Given the description of an element on the screen output the (x, y) to click on. 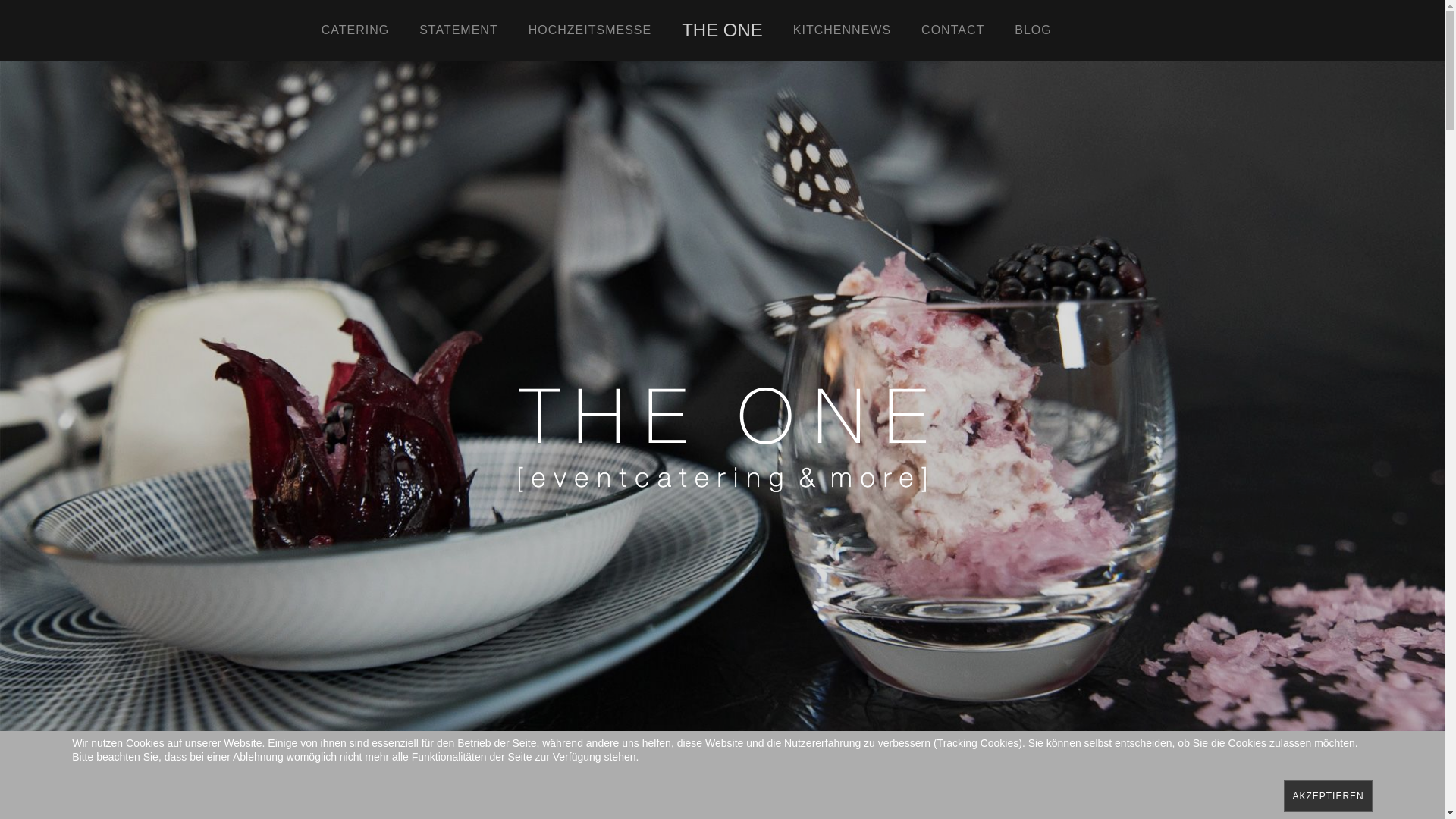
HOCHZEITSMESSE Element type: text (589, 30)
BLOG Element type: text (1032, 30)
THE ONE Element type: text (722, 30)
CATERING Element type: text (355, 30)
AKZEPTIEREN Element type: text (1327, 796)
CONTACT Element type: text (952, 30)
STATEMENT Element type: text (458, 30)
KITCHENNEWS Element type: text (842, 30)
